Given the description of an element on the screen output the (x, y) to click on. 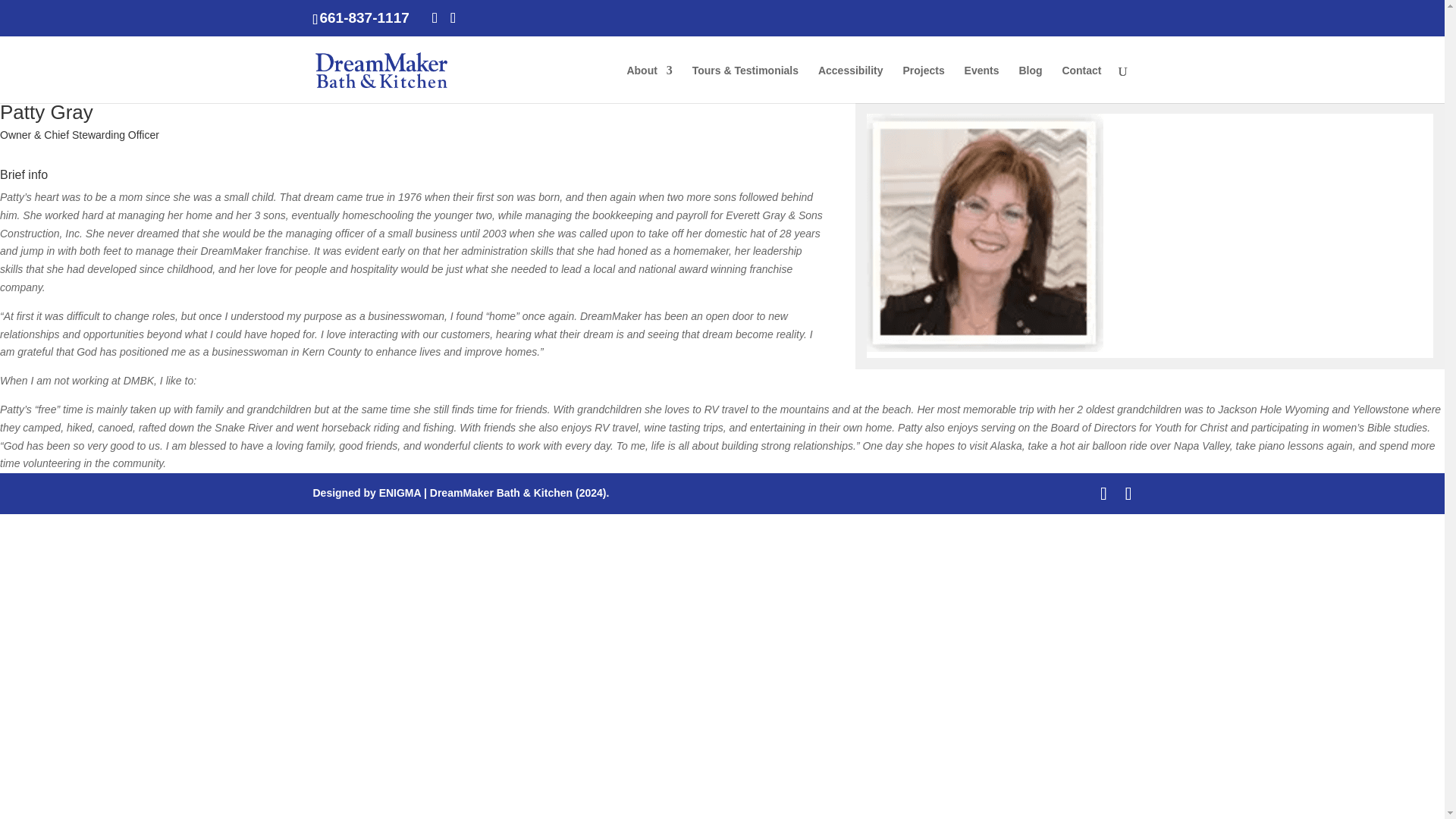
Projects (922, 84)
Accessibility (850, 84)
Contact (1080, 84)
About (648, 84)
Events (980, 84)
